Given the description of an element on the screen output the (x, y) to click on. 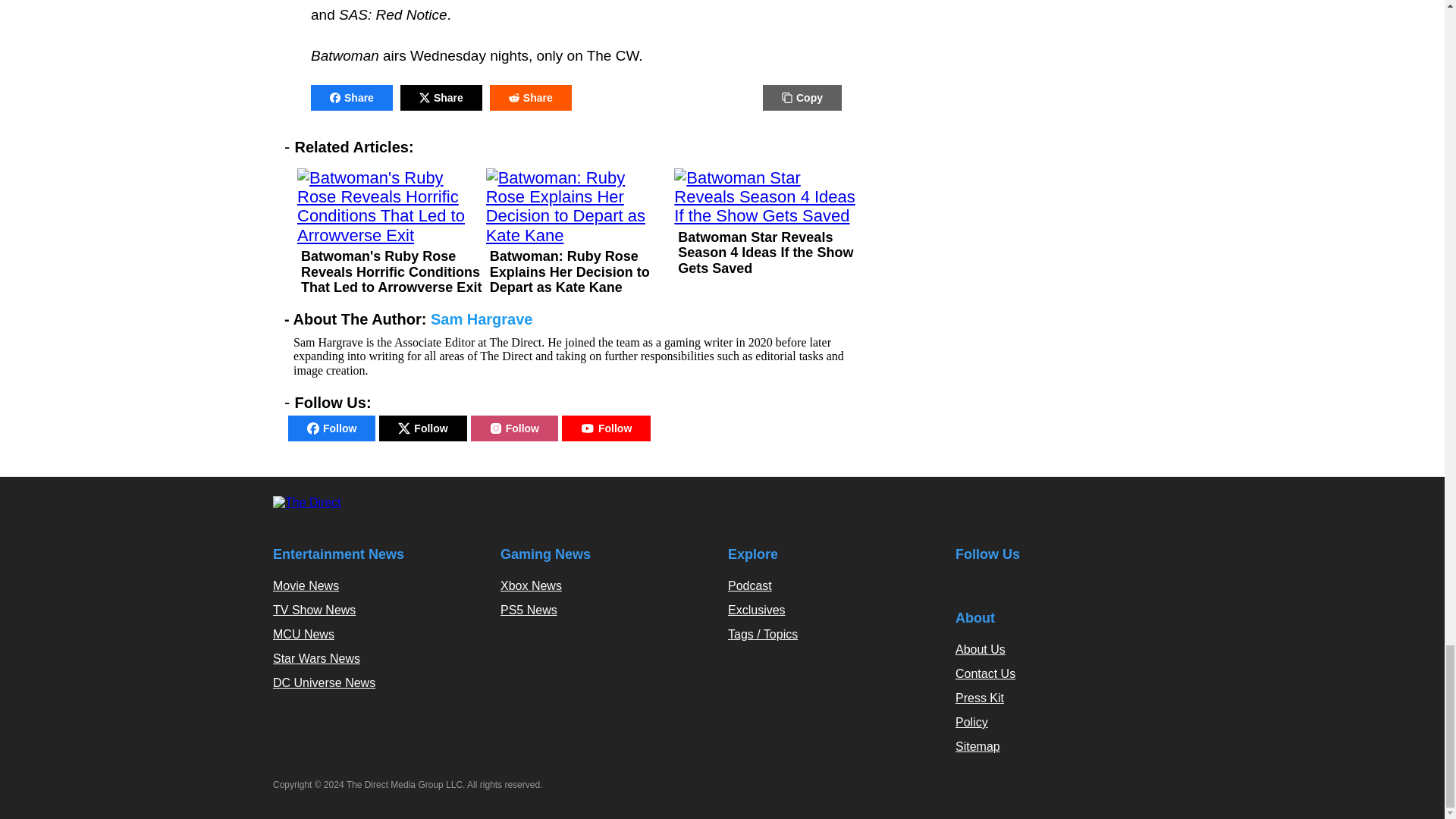
Share on Reddit (530, 97)
